Given the description of an element on the screen output the (x, y) to click on. 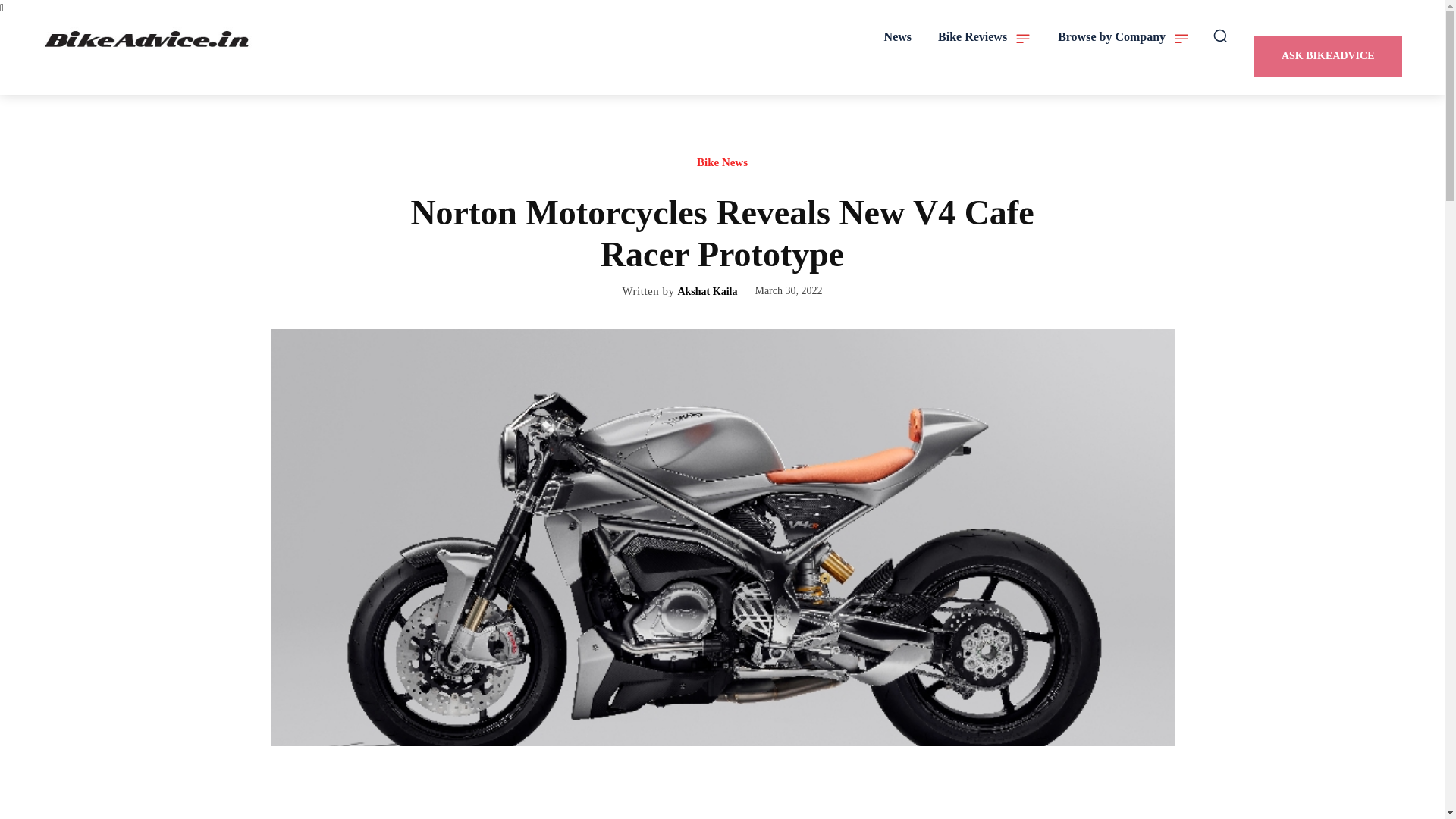
Bike Reviews (984, 36)
Browse by Company (1123, 36)
Ask BikeAdvice (1327, 56)
Latest Bike News, Reviews, Spy Pics (148, 38)
